Given the description of an element on the screen output the (x, y) to click on. 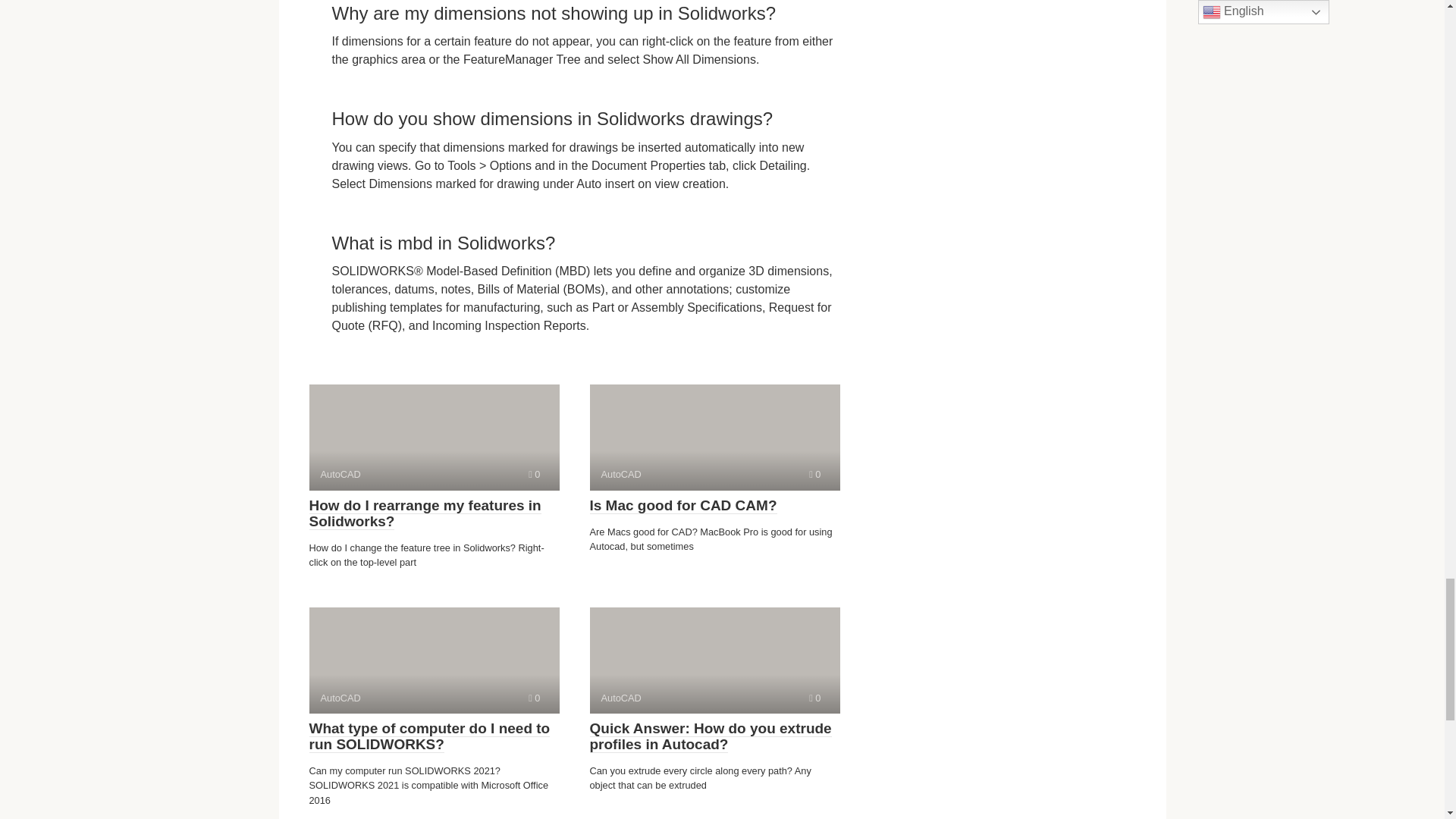
What type of computer do I need to run SOLIDWORKS? (429, 736)
Is Mac good for CAD CAM? (683, 505)
Comments (714, 660)
Comments (534, 697)
Comments (433, 660)
Comments (815, 473)
